Given the description of an element on the screen output the (x, y) to click on. 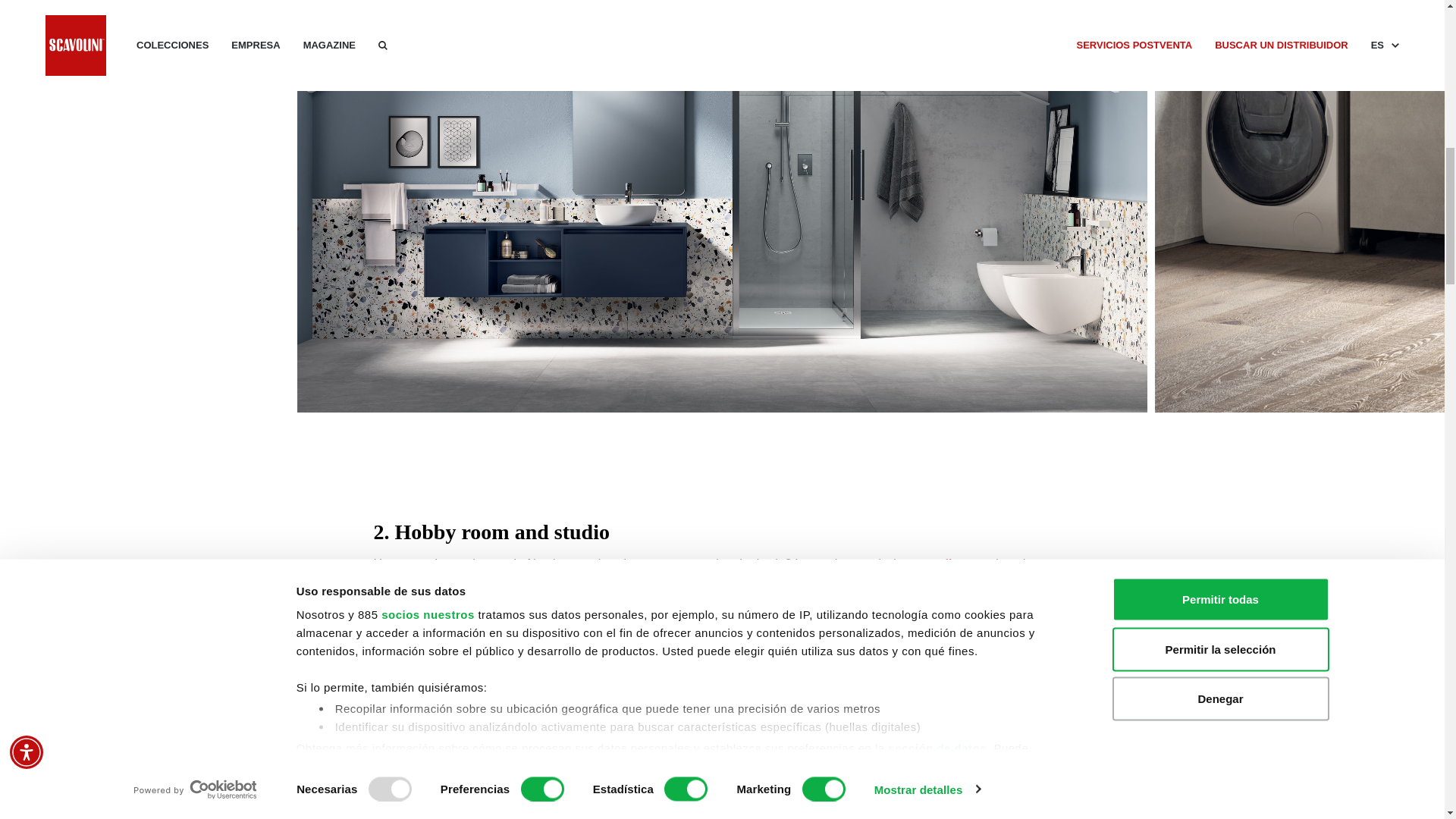
Cookie Policy (390, 37)
